Given the description of an element on the screen output the (x, y) to click on. 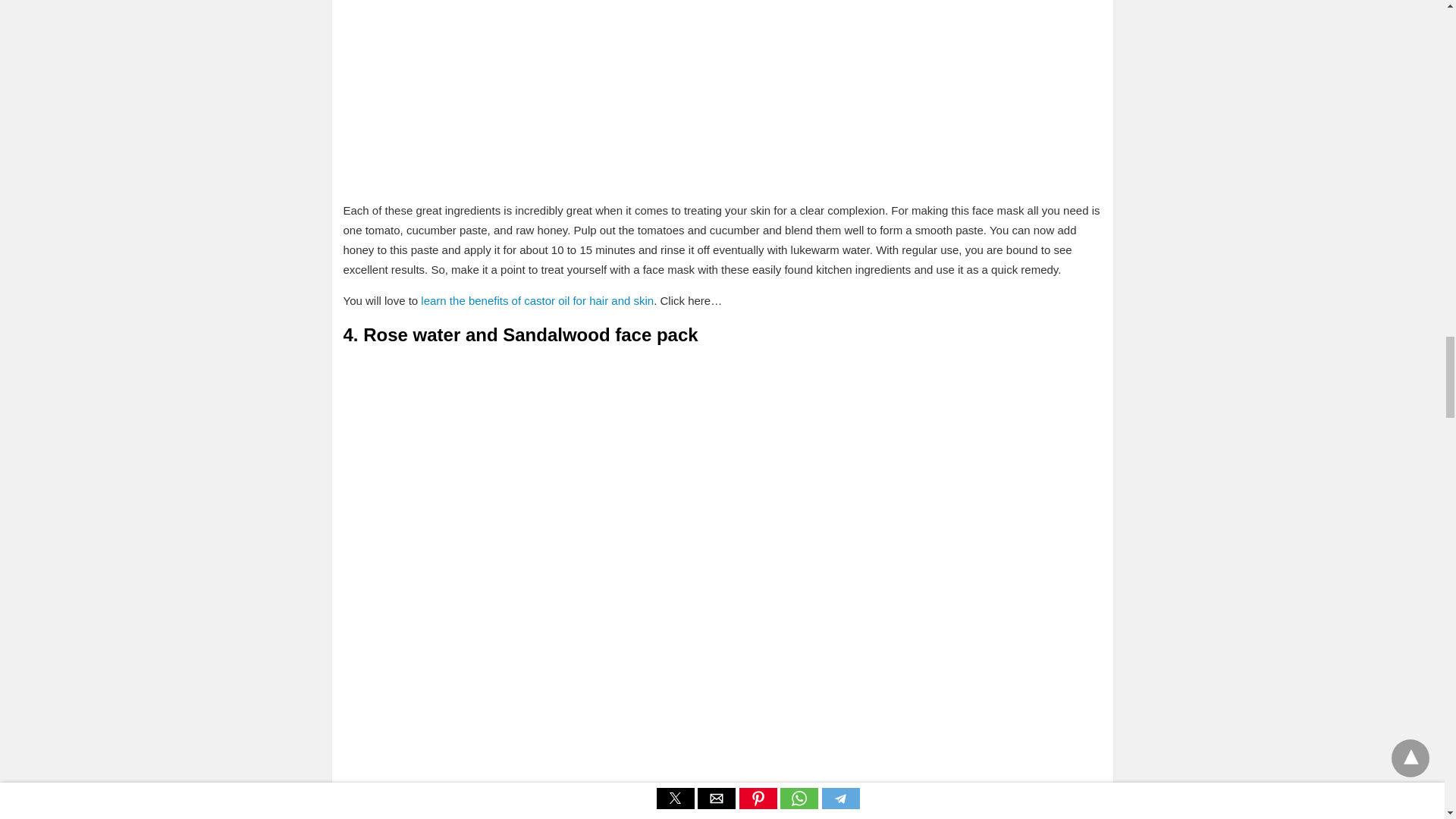
learn the benefits of castor oil for hair and skin (536, 300)
